Given the description of an element on the screen output the (x, y) to click on. 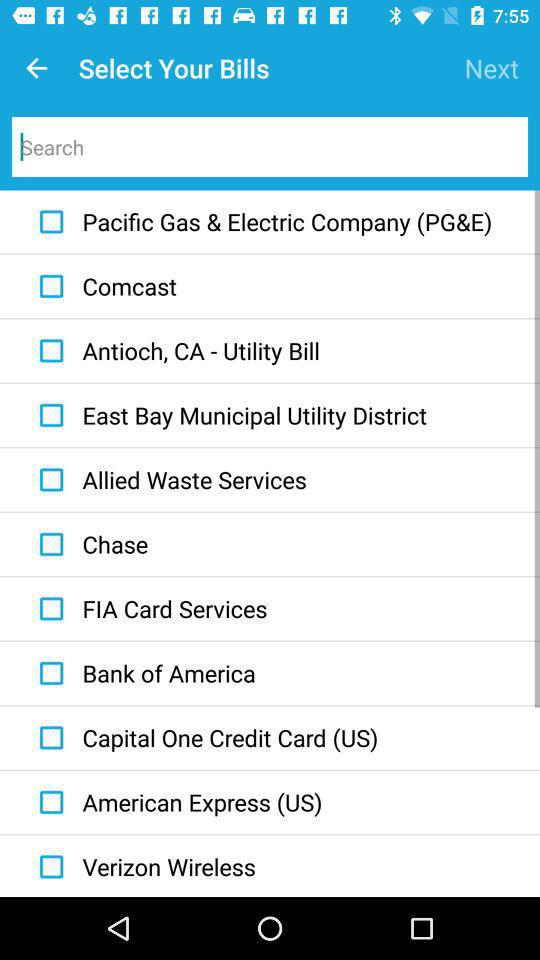
choose item above the antioch ca utility (103, 286)
